Given the description of an element on the screen output the (x, y) to click on. 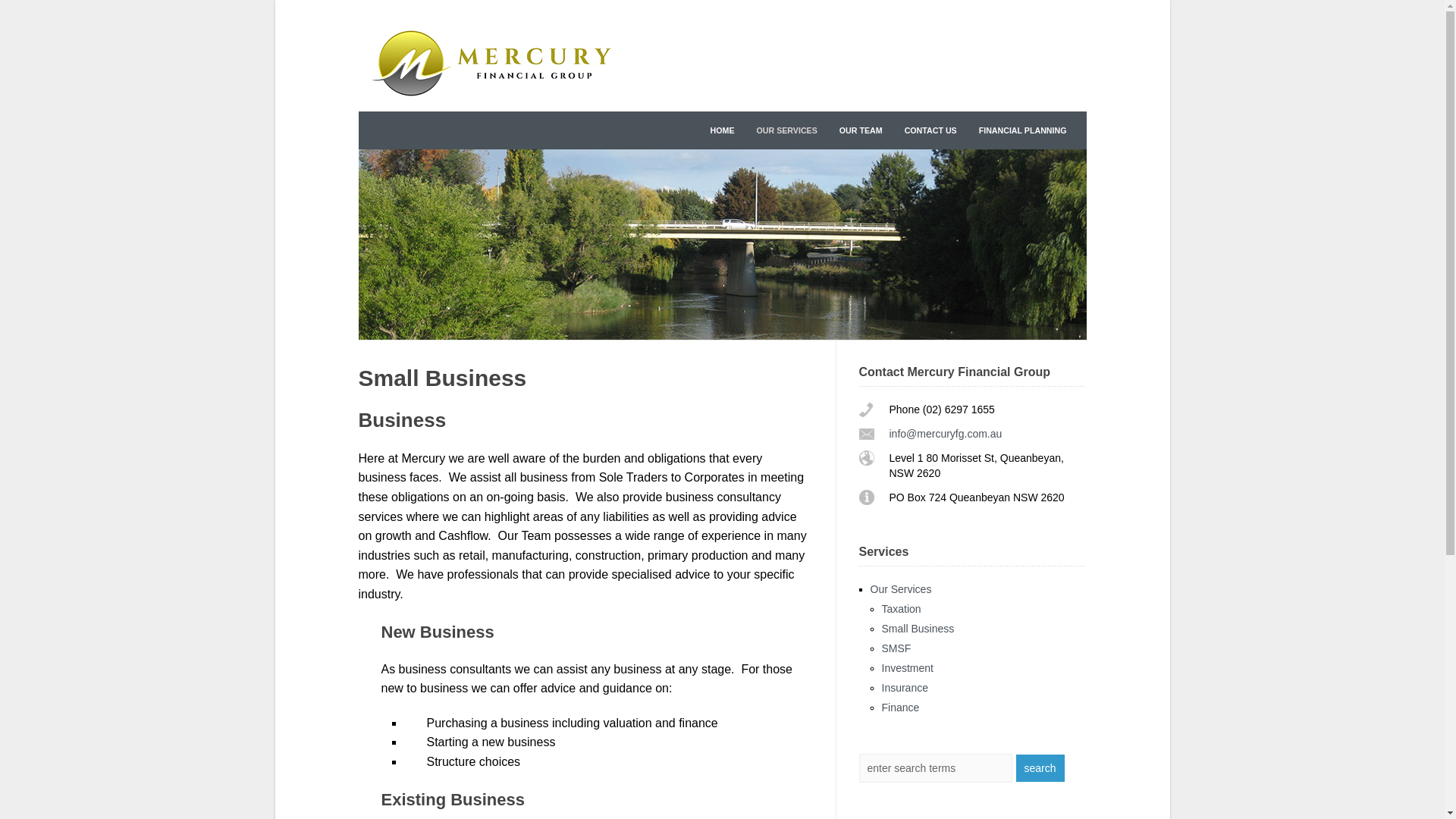
info@mercuryfg.com.au Element type: text (944, 433)
search Element type: text (1040, 767)
Our Services Element type: text (900, 589)
Investment Element type: text (906, 668)
CONTACT US Element type: text (930, 130)
Finance Element type: text (900, 707)
Small Business Element type: text (917, 628)
Permanent Link to Our Services Element type: hover (721, 244)
SMSF Element type: text (895, 648)
HOME Element type: text (722, 130)
Taxation Element type: text (900, 608)
OUR SERVICES Element type: text (786, 130)
OUR TEAM Element type: text (861, 130)
Mercury Financial Group Element type: hover (490, 99)
FINANCIAL PLANNING Element type: text (1022, 130)
Insurance Element type: text (904, 687)
